Given the description of an element on the screen output the (x, y) to click on. 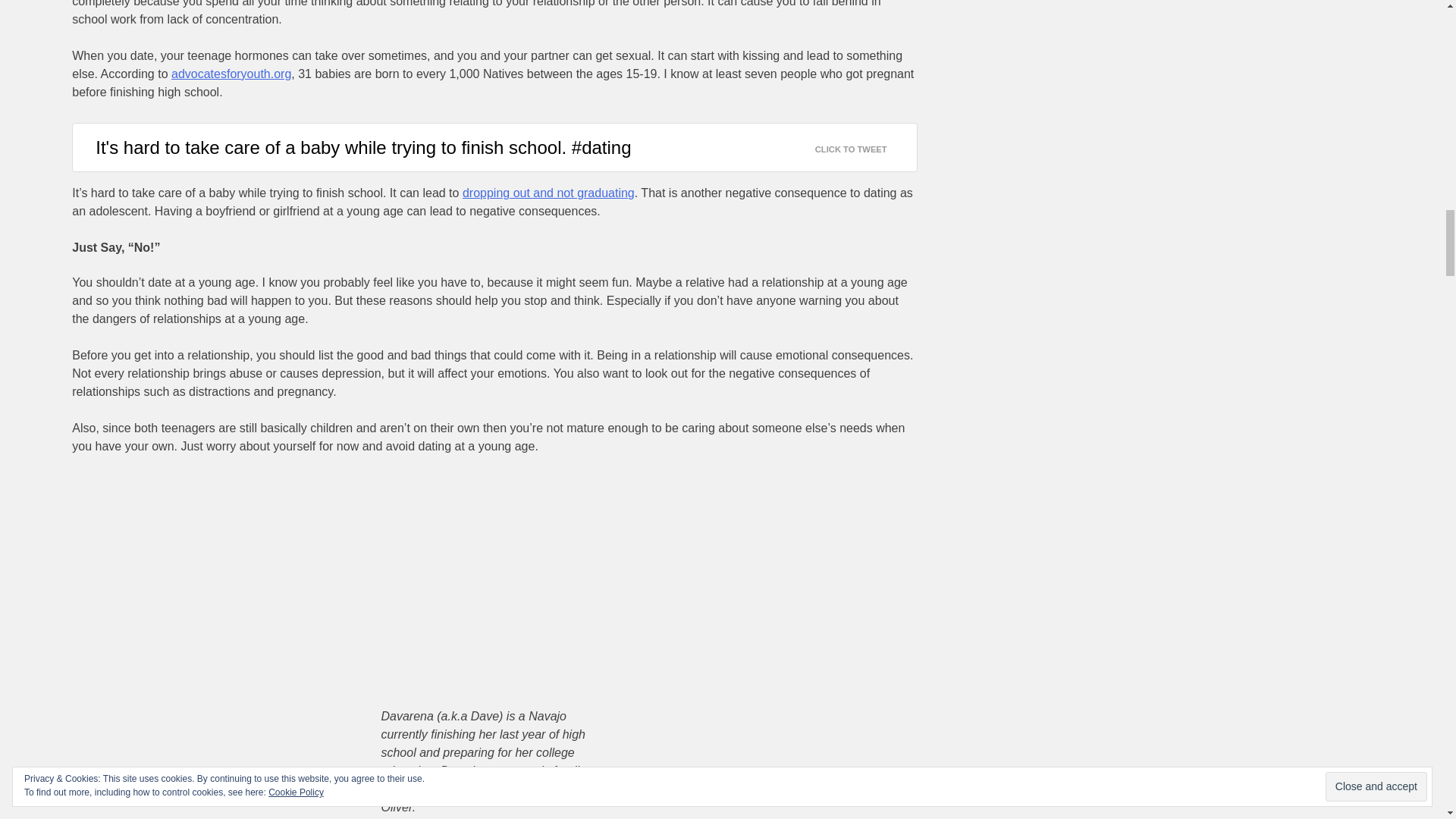
CLICK TO TWEET (860, 145)
advocatesforyouth.org (231, 73)
dropping out and not graduating (548, 192)
